Given the description of an element on the screen output the (x, y) to click on. 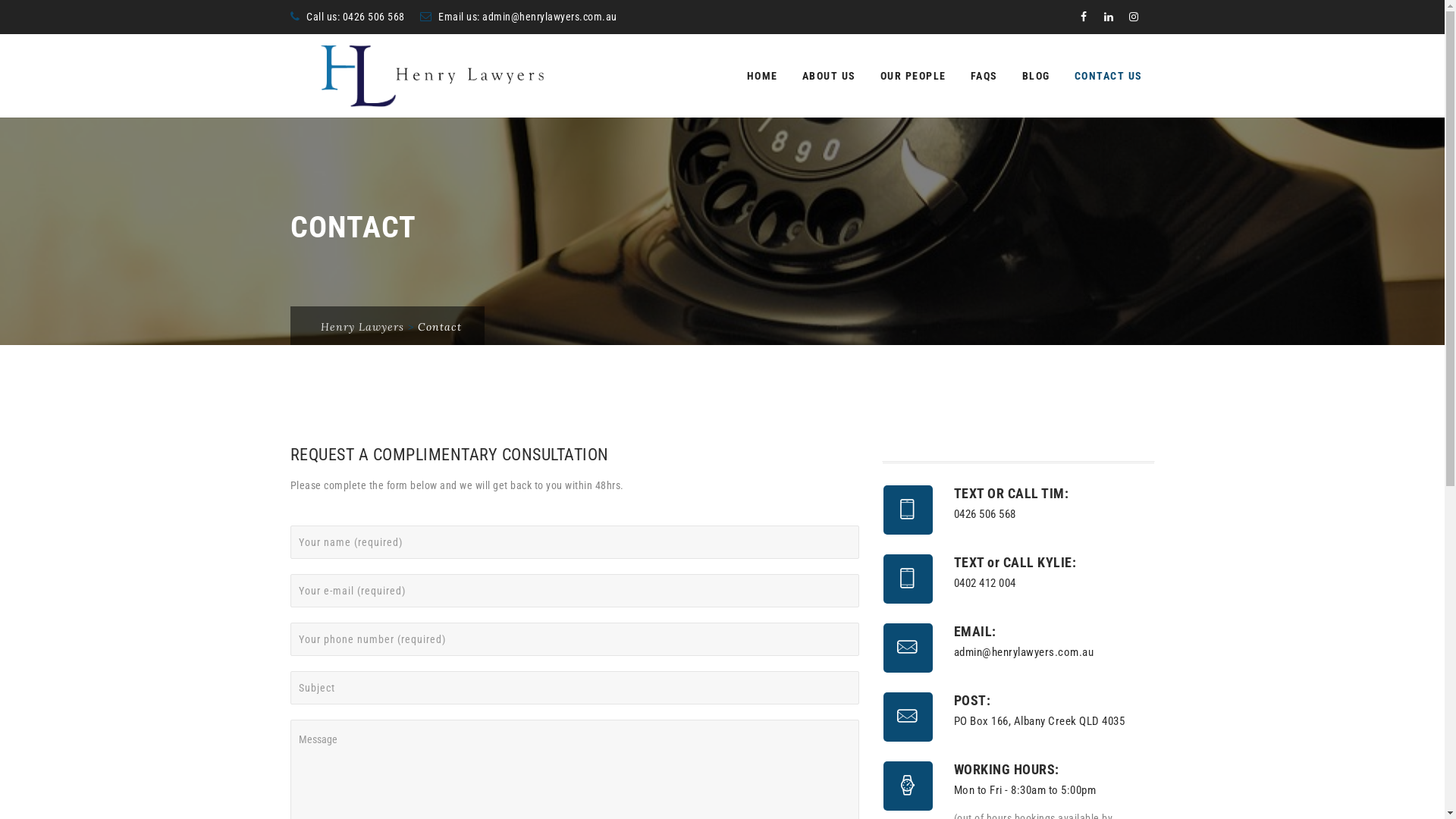
CONTACT US Element type: text (1107, 75)
OUR PEOPLE Element type: text (912, 75)
Henry Lawyers Element type: hover (420, 75)
HOME Element type: text (761, 75)
Henry Lawyers Element type: text (361, 326)
ABOUT US Element type: text (829, 75)
FAQS Element type: text (983, 75)
BLOG Element type: text (1036, 75)
admin@henrylawyers.com.au Element type: text (549, 16)
Skip to content Element type: text (734, 33)
